Given the description of an element on the screen output the (x, y) to click on. 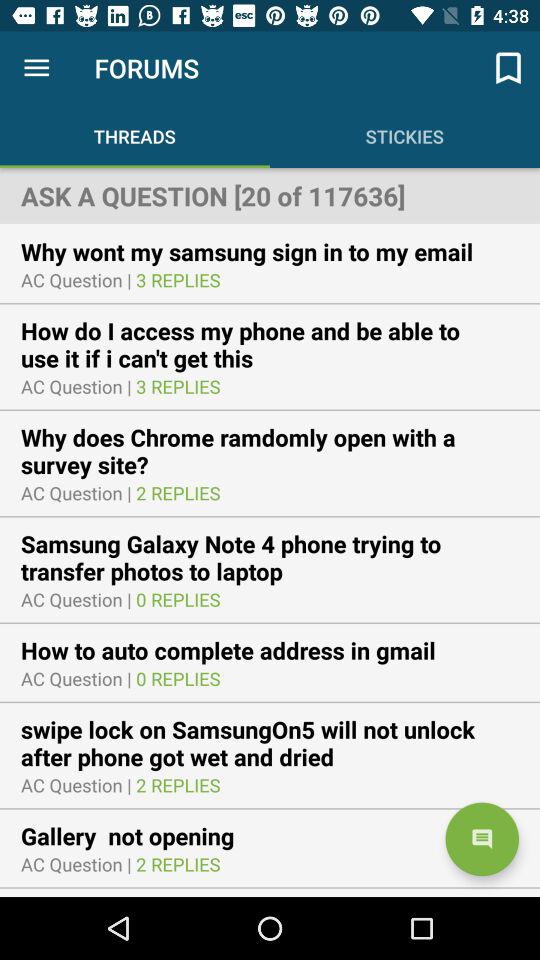
select the icon above ac question | (270, 344)
